Given the description of an element on the screen output the (x, y) to click on. 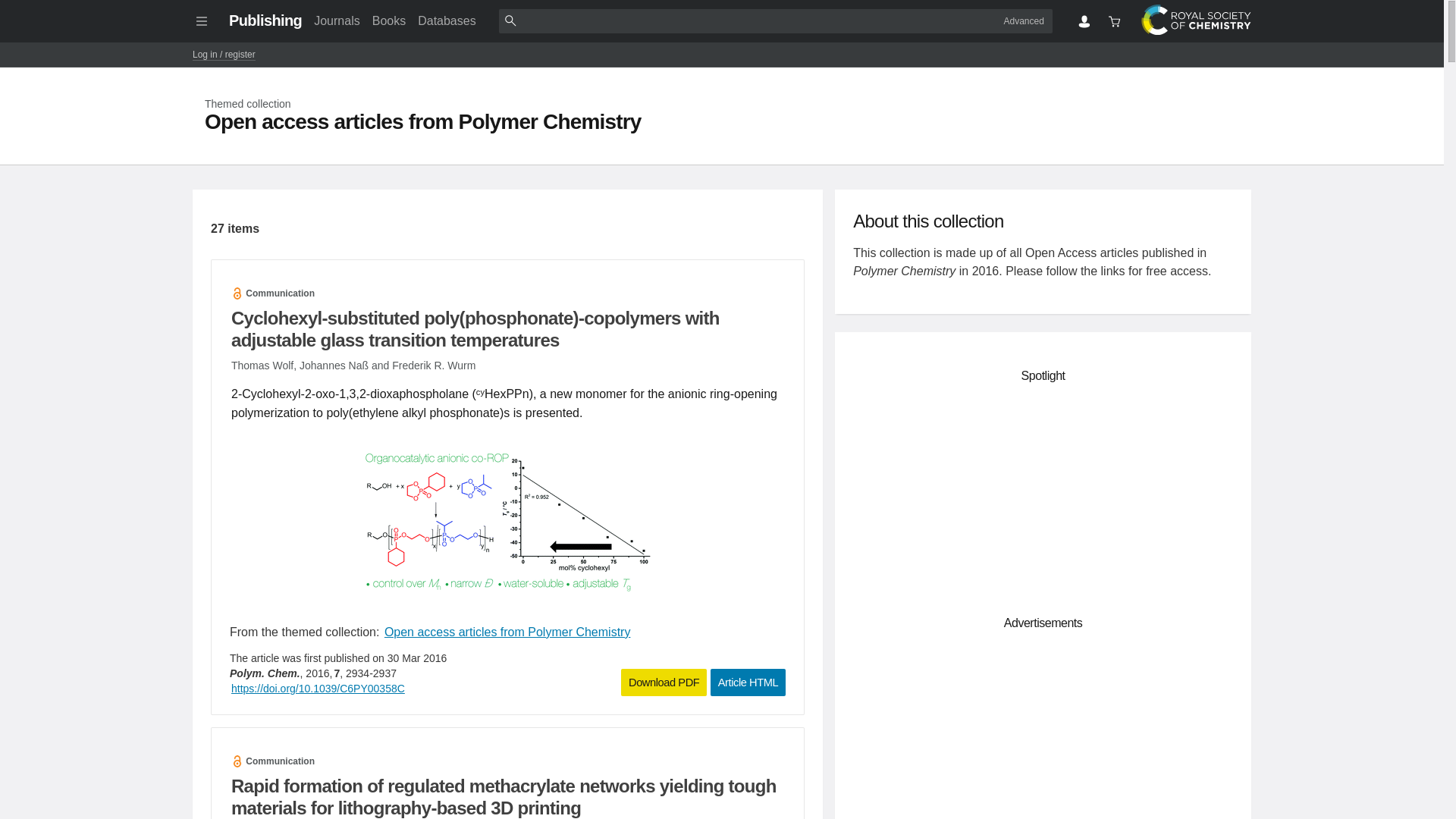
Article HTML (748, 682)
3rd party ad content (1043, 496)
Open access articles from Polymer Chemistry (506, 631)
Advanced (1023, 20)
Books (389, 20)
Publishing home page (264, 20)
Download PDF (663, 682)
Journals (336, 20)
Publishing (264, 20)
Databases (446, 20)
